Given the description of an element on the screen output the (x, y) to click on. 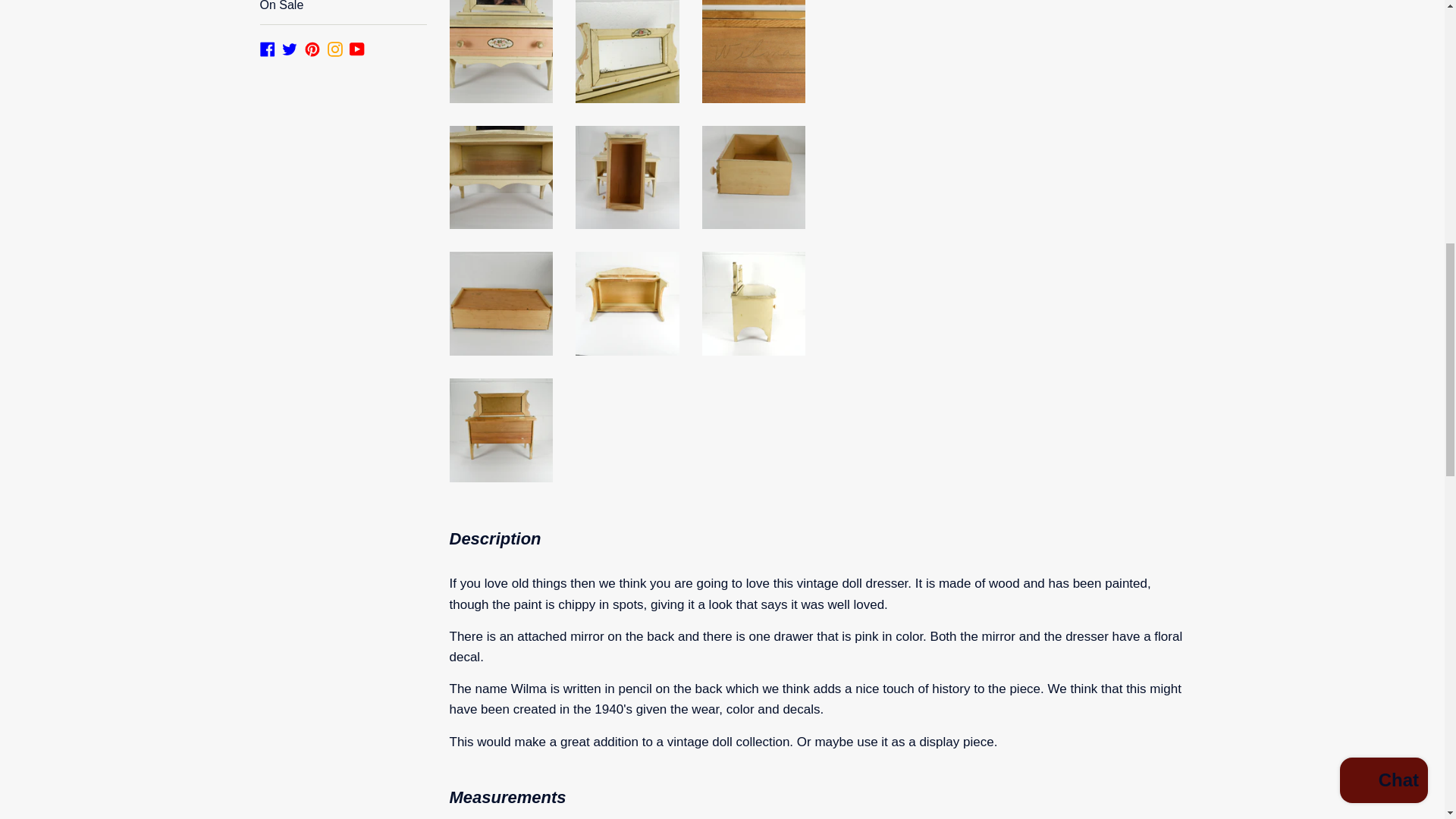
TooHipChicks on Instagram (334, 47)
TooHipChicks on YouTube (357, 47)
TooHipChicks on Facebook (267, 47)
TooHipChicks on Twitter (289, 47)
TooHipChicks on Pinterest (312, 47)
